Given the description of an element on the screen output the (x, y) to click on. 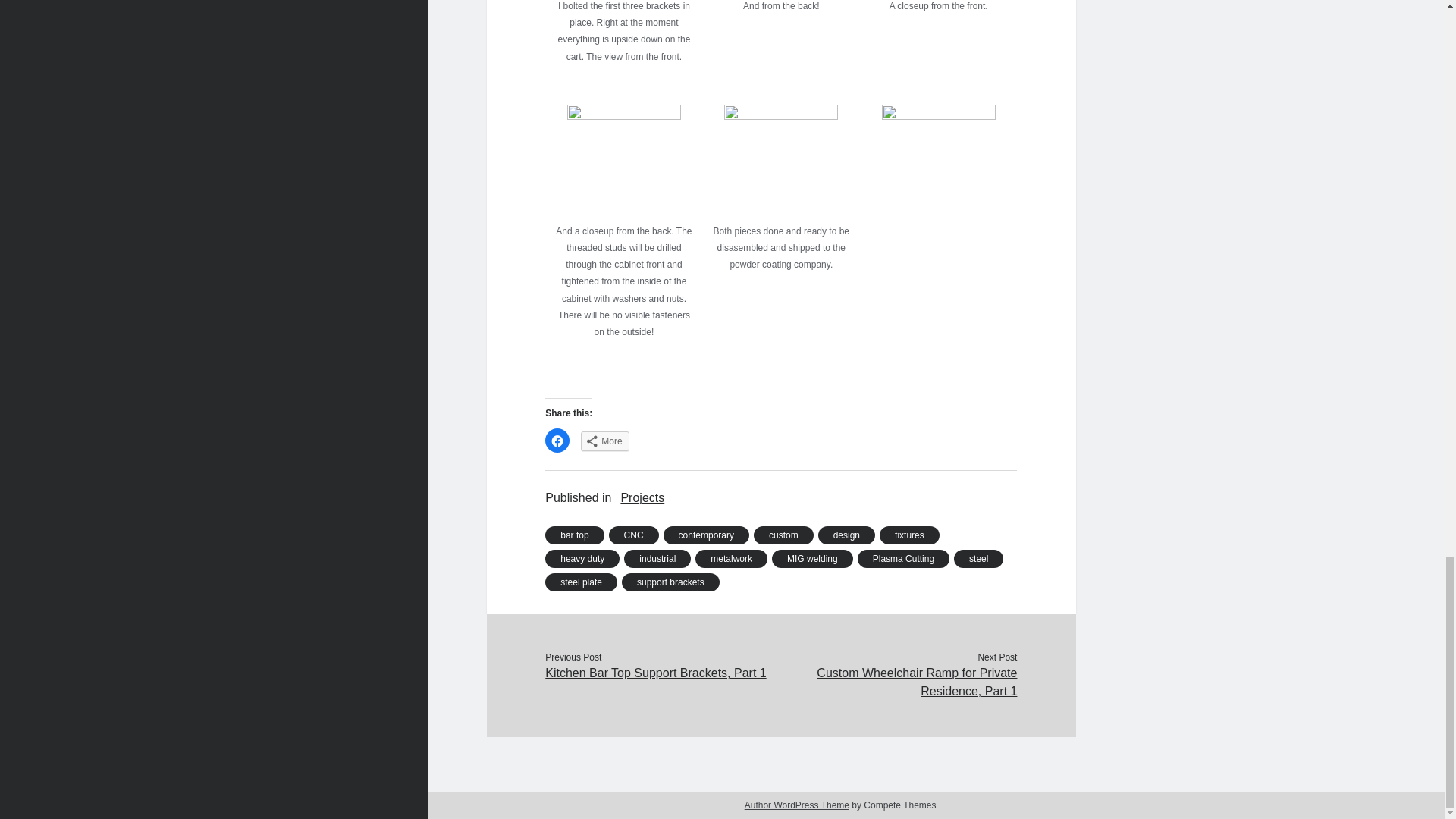
View all posts tagged heavy duty (582, 558)
View all posts tagged custom (783, 535)
View all posts tagged bar top (574, 535)
View all posts tagged metalwork (731, 558)
Click to share on Facebook (556, 440)
View all posts in Projects (641, 497)
View all posts tagged contemporary (706, 535)
View all posts tagged CNC (633, 535)
View all posts tagged industrial (657, 558)
View all posts tagged design (846, 535)
View all posts tagged fixtures (909, 535)
